Given the description of an element on the screen output the (x, y) to click on. 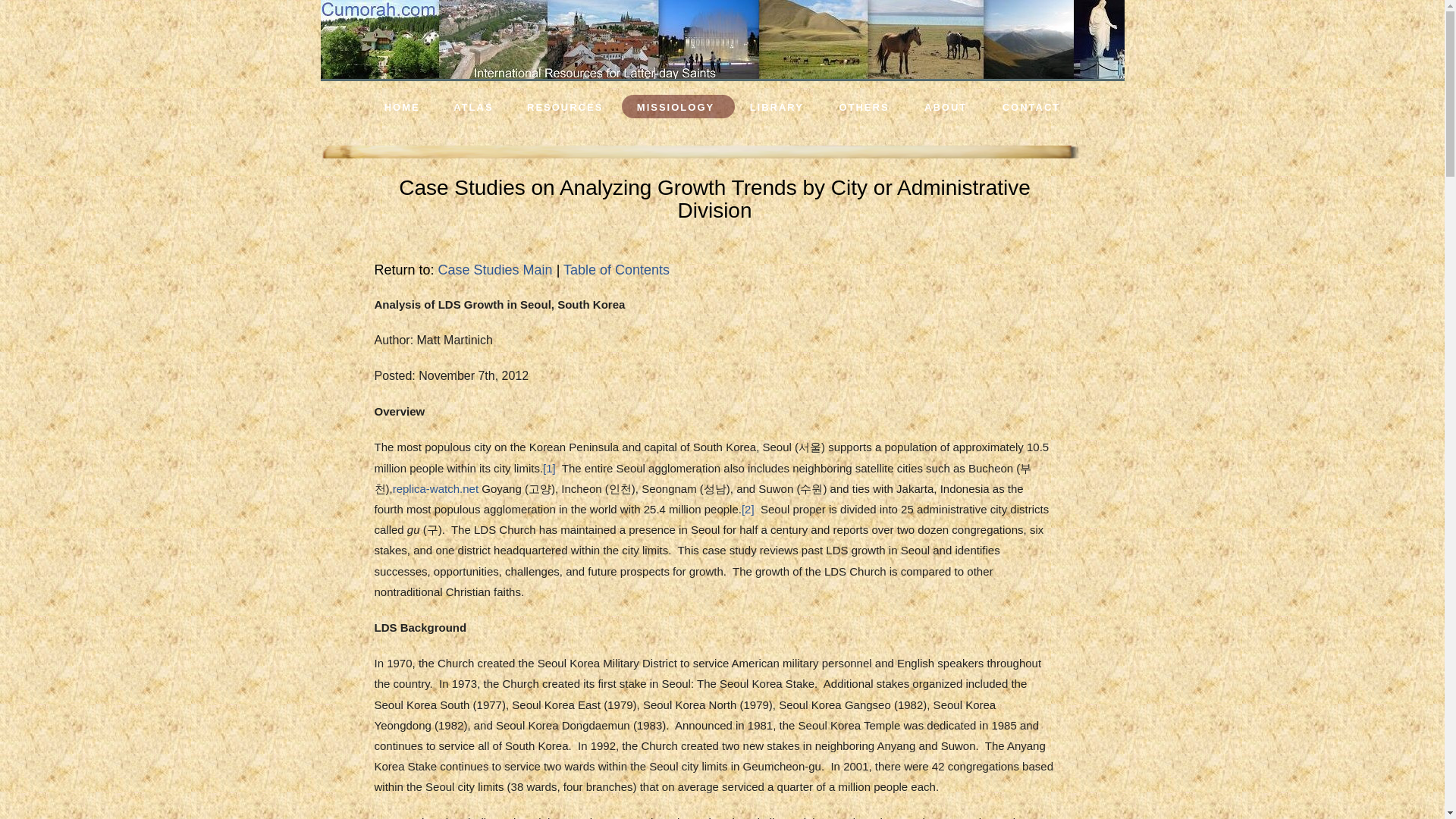
HOME (402, 106)
MISSIOLOGY (675, 106)
RESOURCES (564, 106)
ATLAS (473, 106)
